Given the description of an element on the screen output the (x, y) to click on. 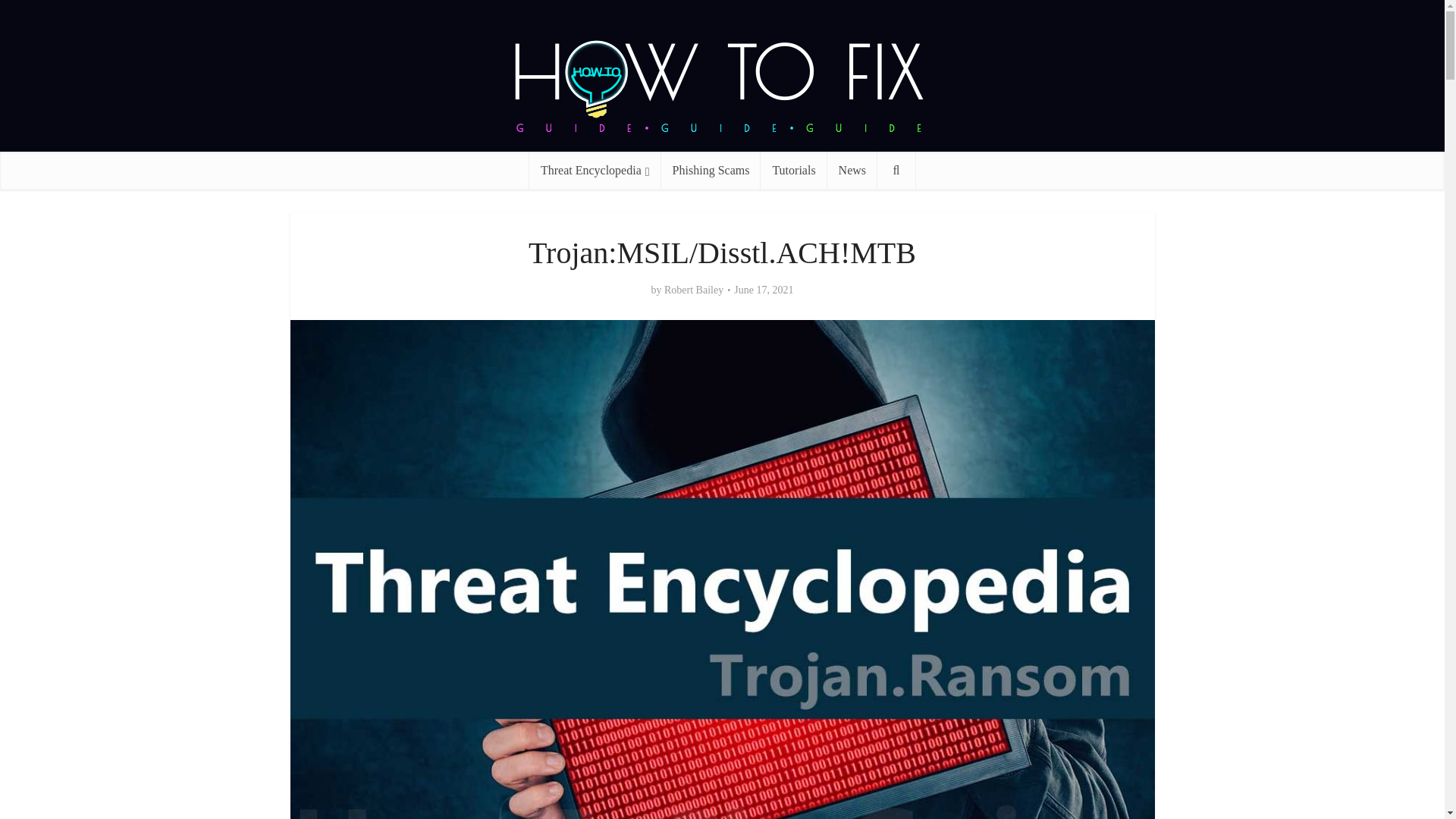
News (852, 170)
Phishing Scams (711, 170)
Tutorials (793, 170)
Threat Encyclopedia (595, 170)
Robert Bailey (693, 290)
